Given the description of an element on the screen output the (x, y) to click on. 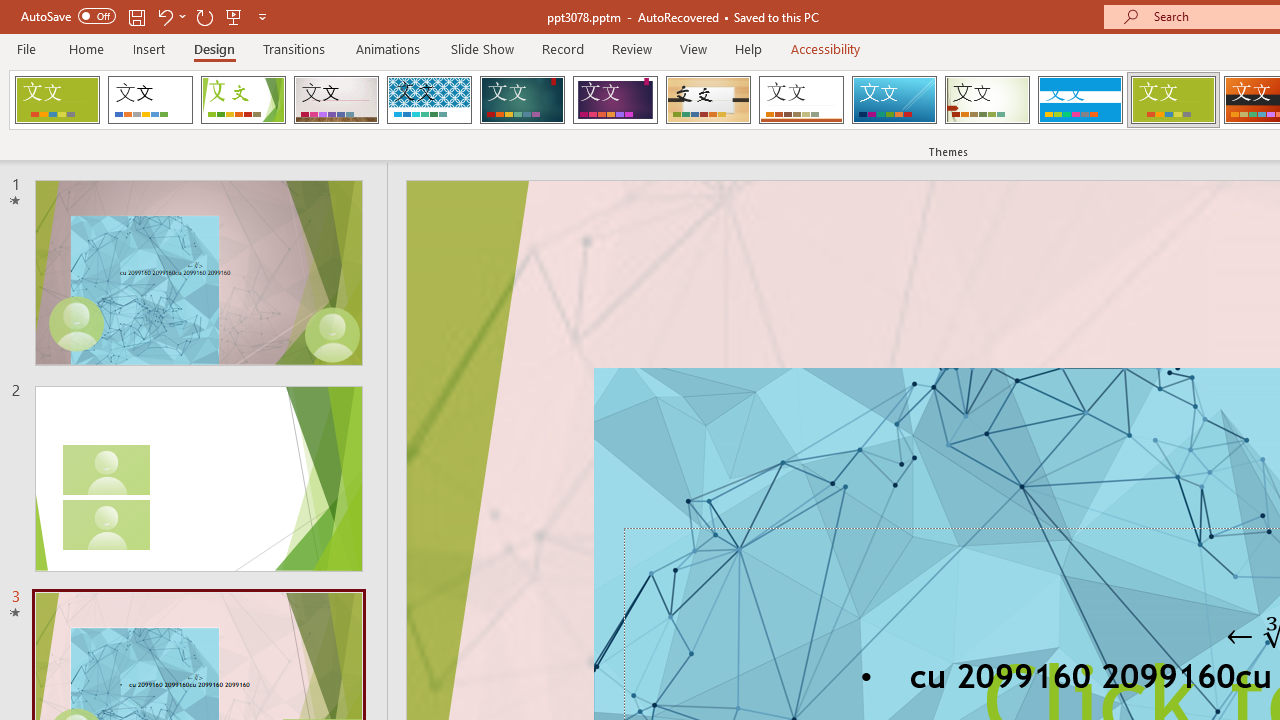
Basis (1172, 100)
Office Theme (150, 100)
Slice (893, 100)
Ion (522, 100)
